Given the description of an element on the screen output the (x, y) to click on. 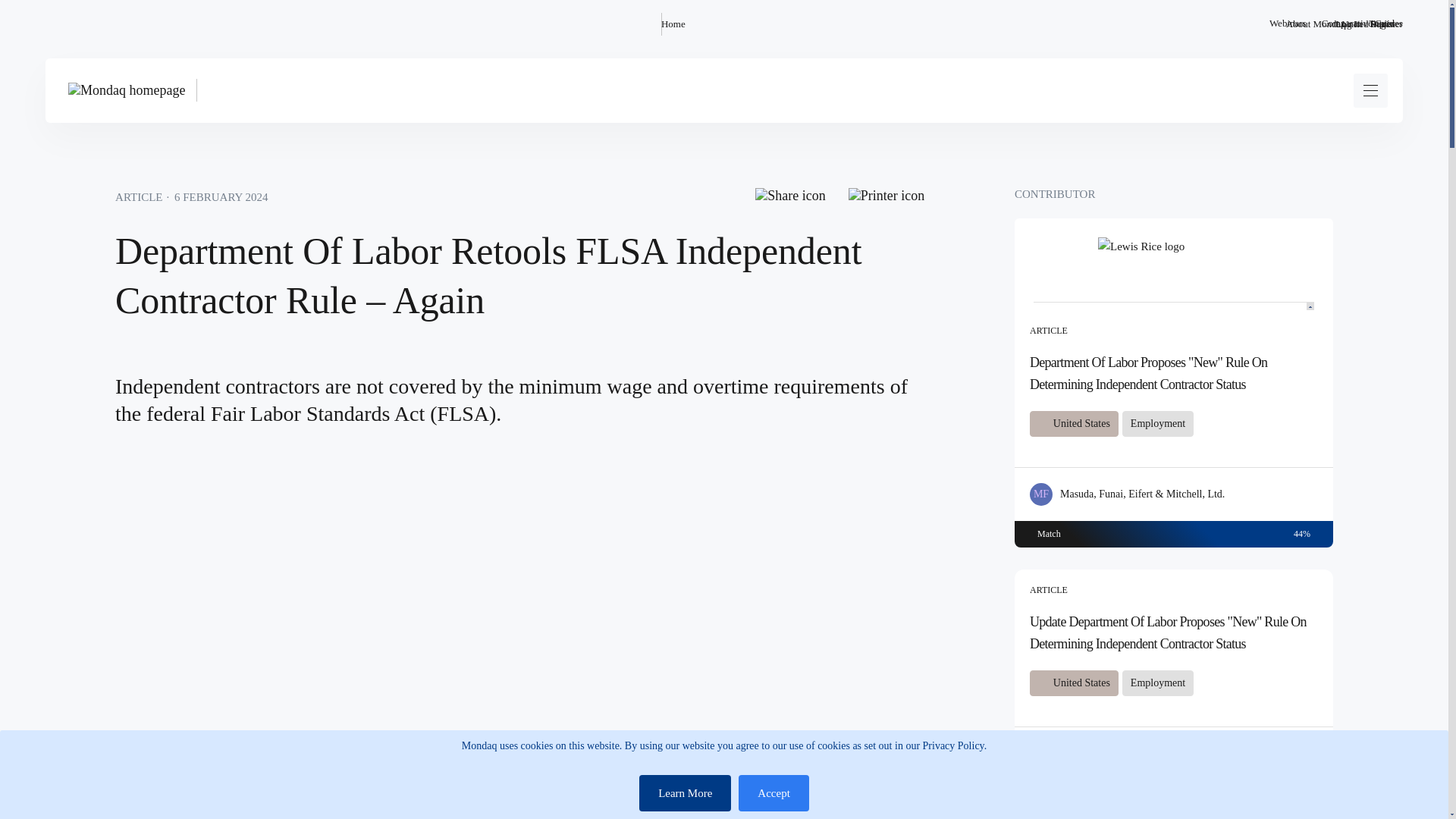
Comparative Guides (1362, 23)
About Mondaq (1315, 24)
Webinars (1287, 23)
Home (673, 24)
